Given the description of an element on the screen output the (x, y) to click on. 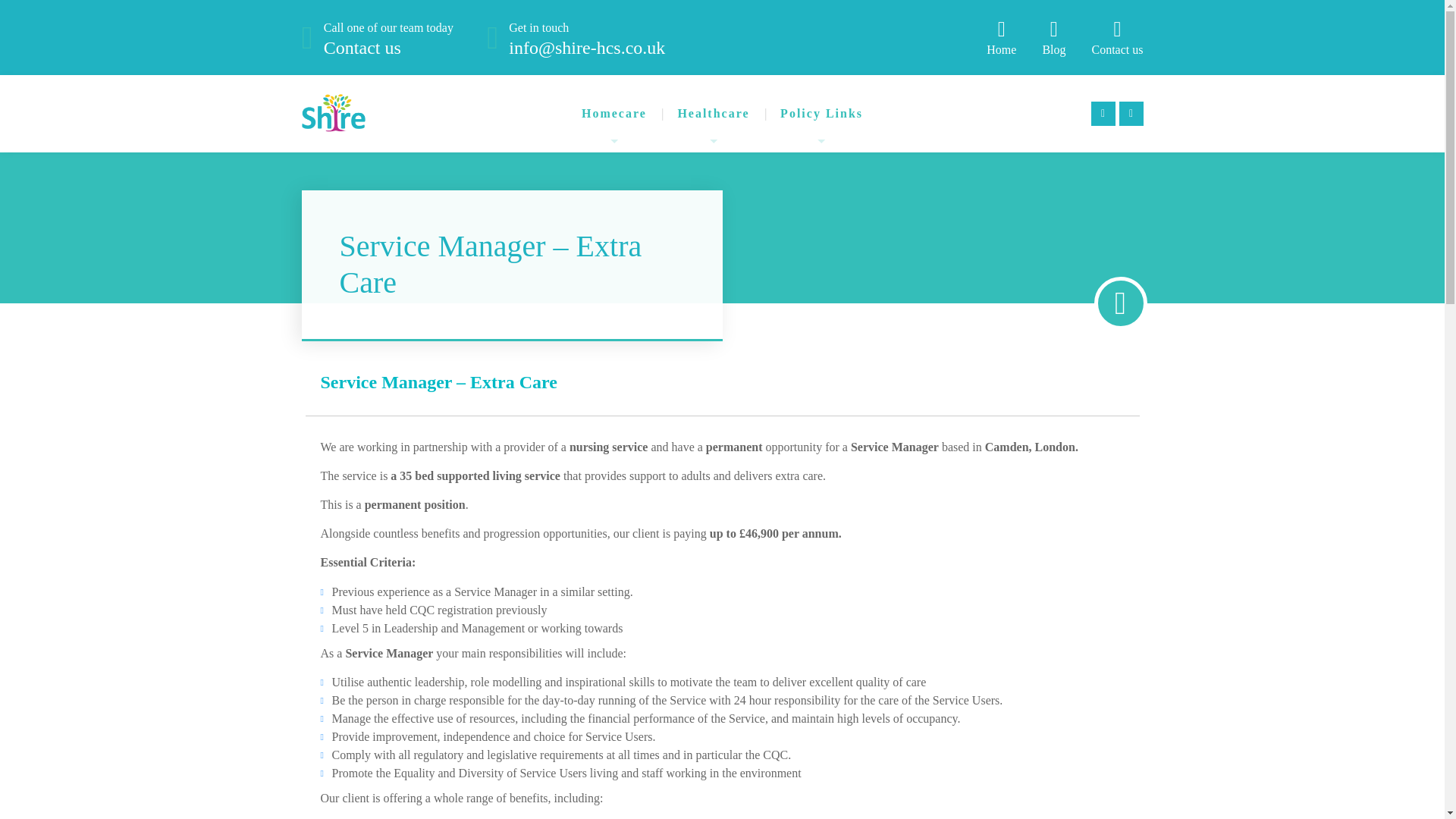
Healthcare (713, 113)
Policy Links (387, 37)
Contact us (821, 113)
